Given the description of an element on the screen output the (x, y) to click on. 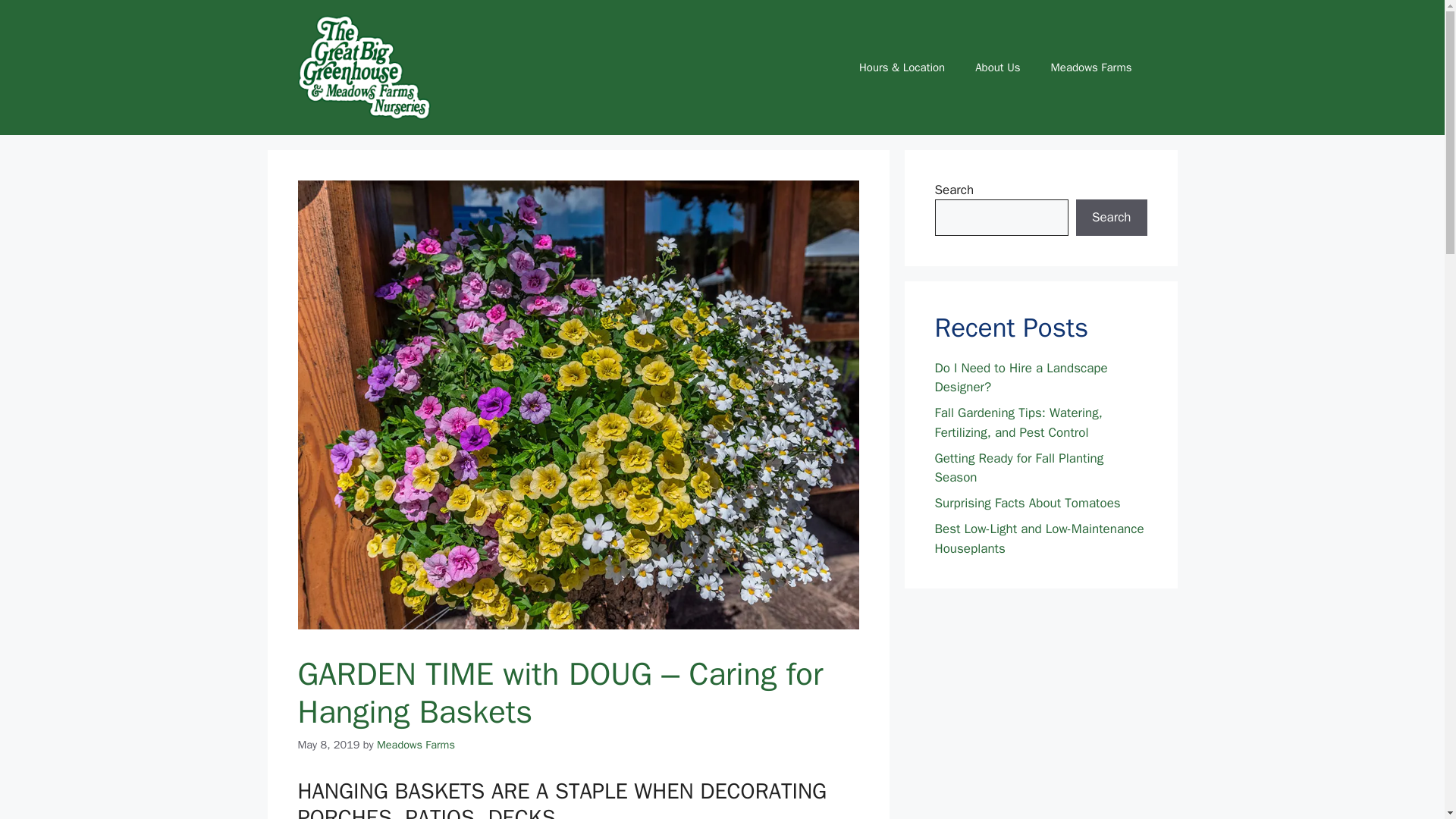
Do I Need to Hire a Landscape Designer? (1020, 377)
Best Low-Light and Low-Maintenance Houseplants (1038, 538)
Meadows Farms (415, 744)
About Us (997, 67)
View all posts by Meadows Farms (415, 744)
Fall Gardening Tips: Watering, Fertilizing, and Pest Control (1018, 422)
The Great Big Greenhouse Gardening Blog (363, 67)
Surprising Facts About Tomatoes (1026, 503)
Getting Ready for Fall Planting Season (1018, 468)
The Great Big Greenhouse Gardening Blog (363, 66)
